Given the description of an element on the screen output the (x, y) to click on. 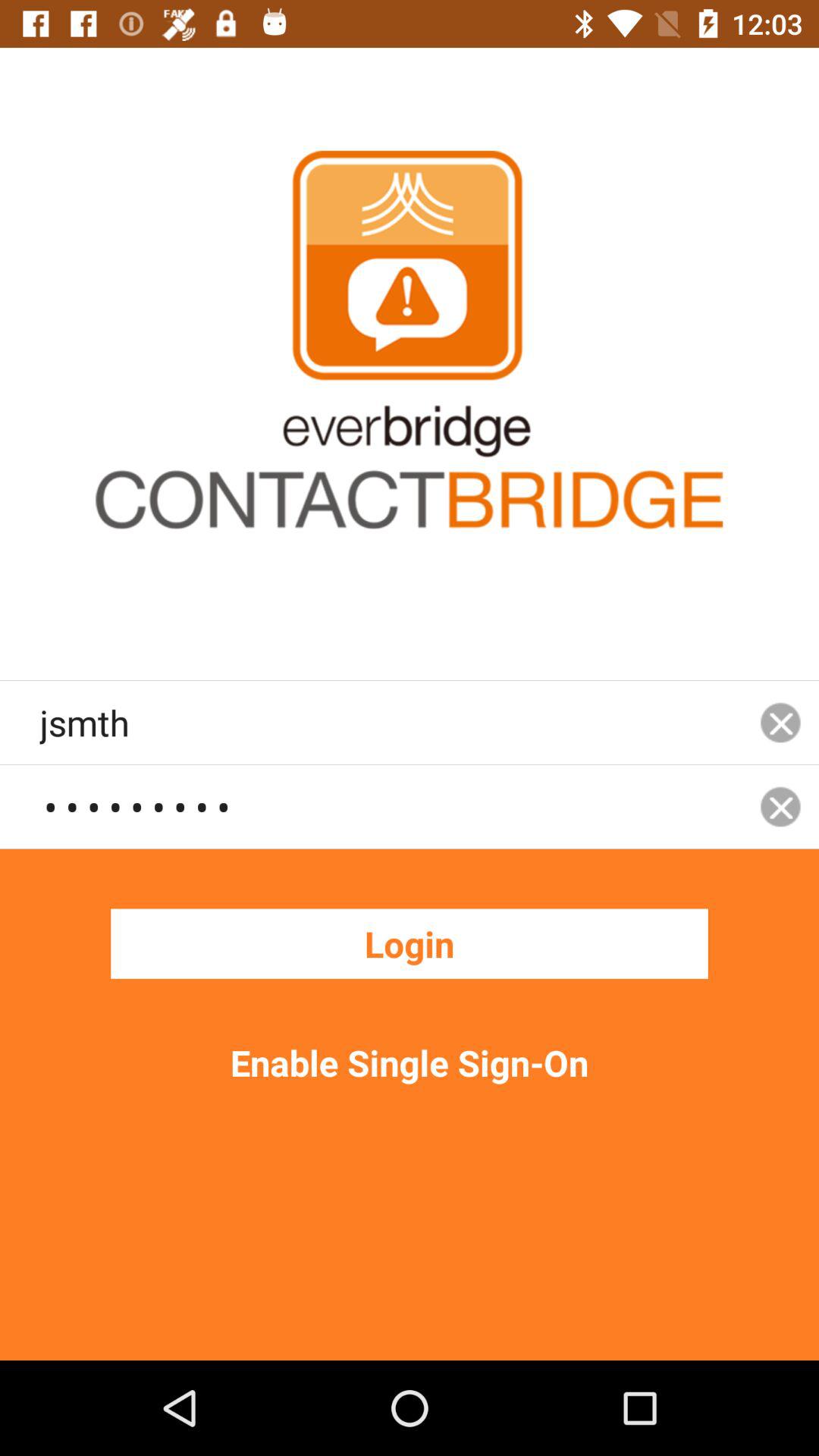
select the item below the login icon (409, 1062)
